Given the description of an element on the screen output the (x, y) to click on. 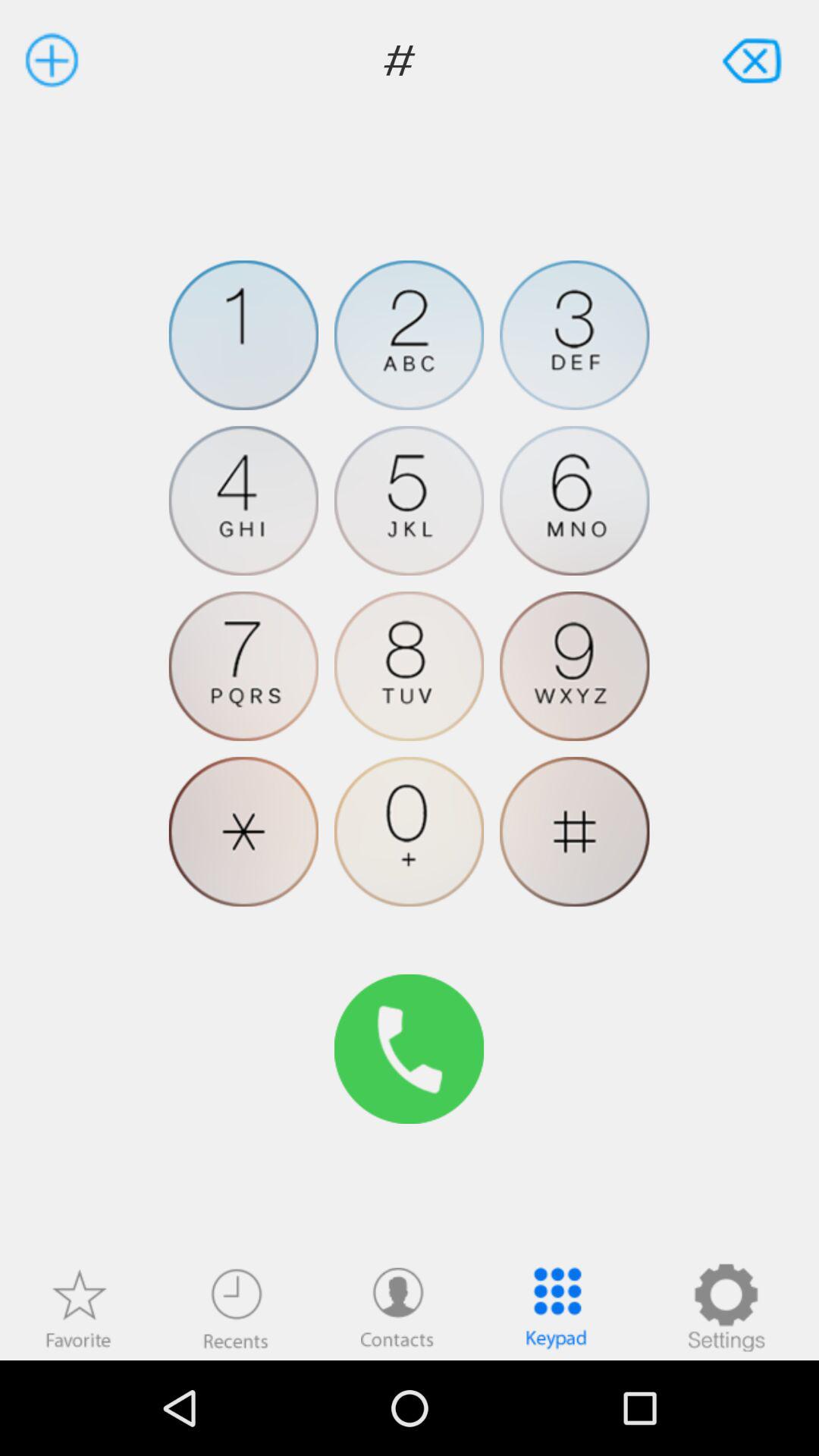
favorites menu (78, 1307)
